Given the description of an element on the screen output the (x, y) to click on. 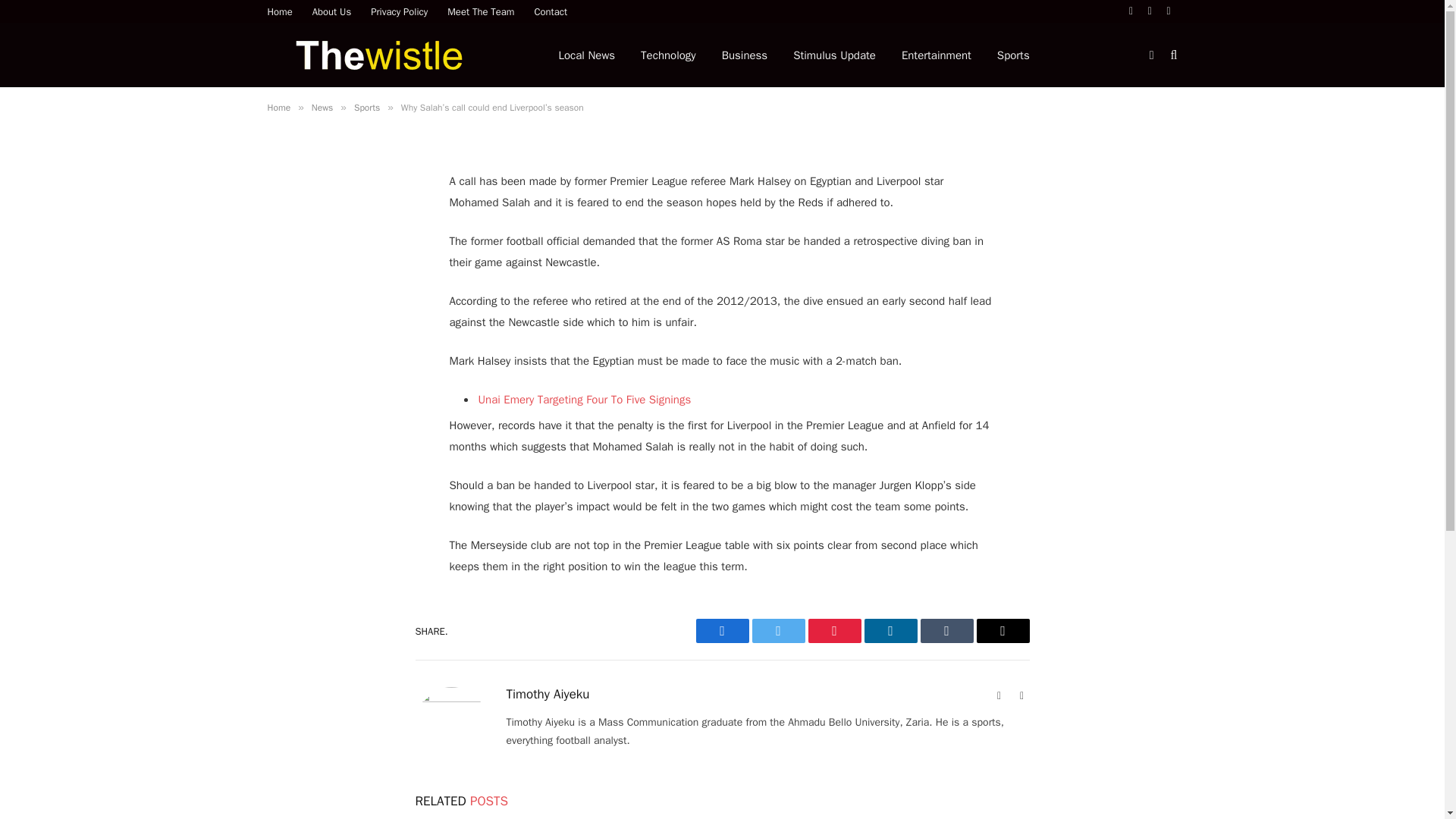
Twitter (1149, 11)
Search (1172, 54)
Business (744, 54)
Stimulus Update (834, 54)
Unai Emery Targeting Four To Five Signings (583, 399)
Technology (668, 54)
Share on LinkedIn (890, 630)
Local News (587, 54)
Facebook (1131, 11)
Entertainment (936, 54)
Sports (1013, 54)
Facebook (722, 630)
Share via Email (1002, 630)
Pinterest (834, 630)
Share on Facebook (722, 630)
